Given the description of an element on the screen output the (x, y) to click on. 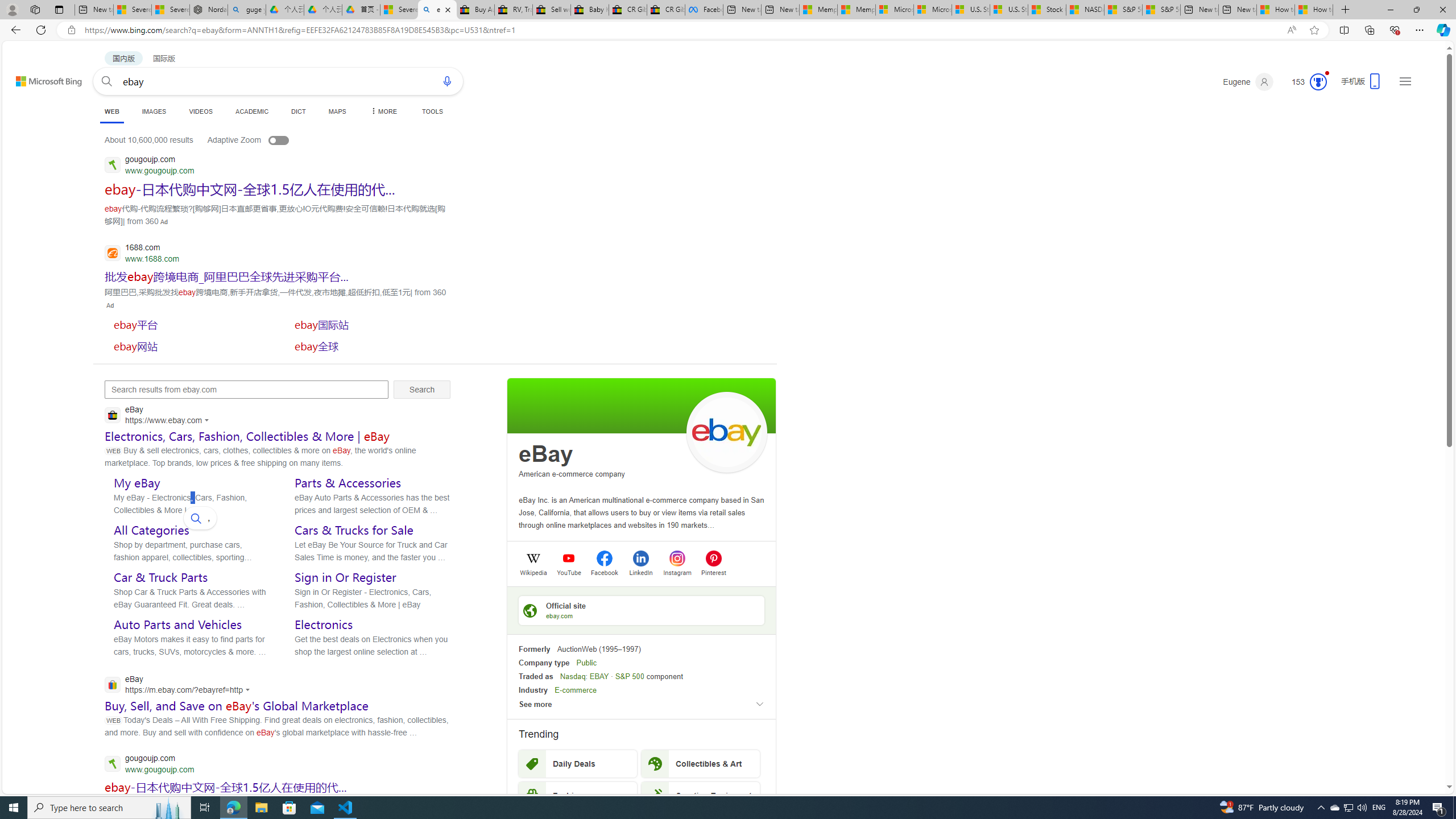
SERP,5710 (225, 276)
Actions for this site (249, 689)
Formerly (534, 649)
WEB (111, 111)
Search more (1423, 753)
